Given the description of an element on the screen output the (x, y) to click on. 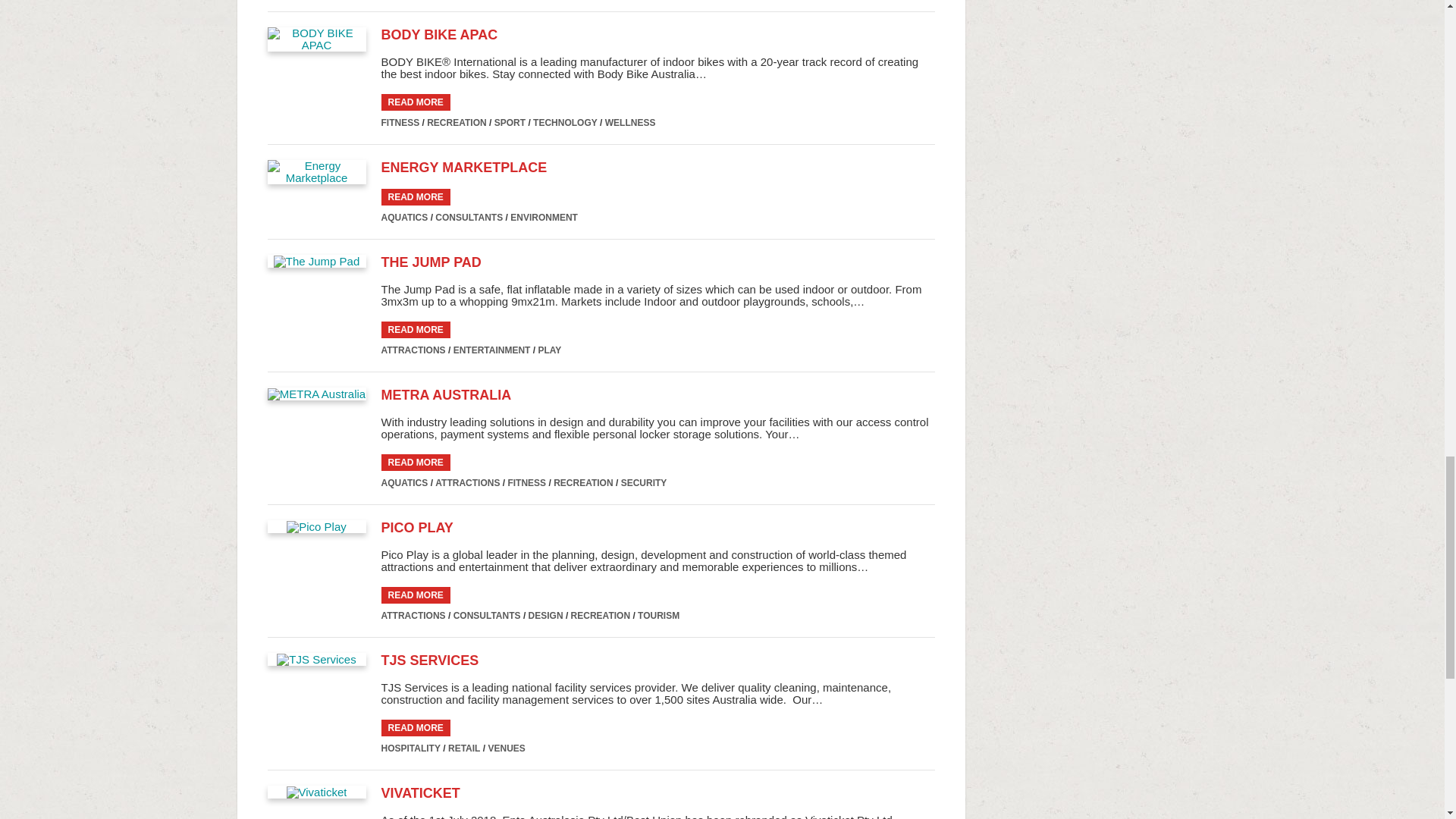
Advertisement (1093, 188)
Advertisement (1093, 37)
Advertisement (1093, 397)
